Given the description of an element on the screen output the (x, y) to click on. 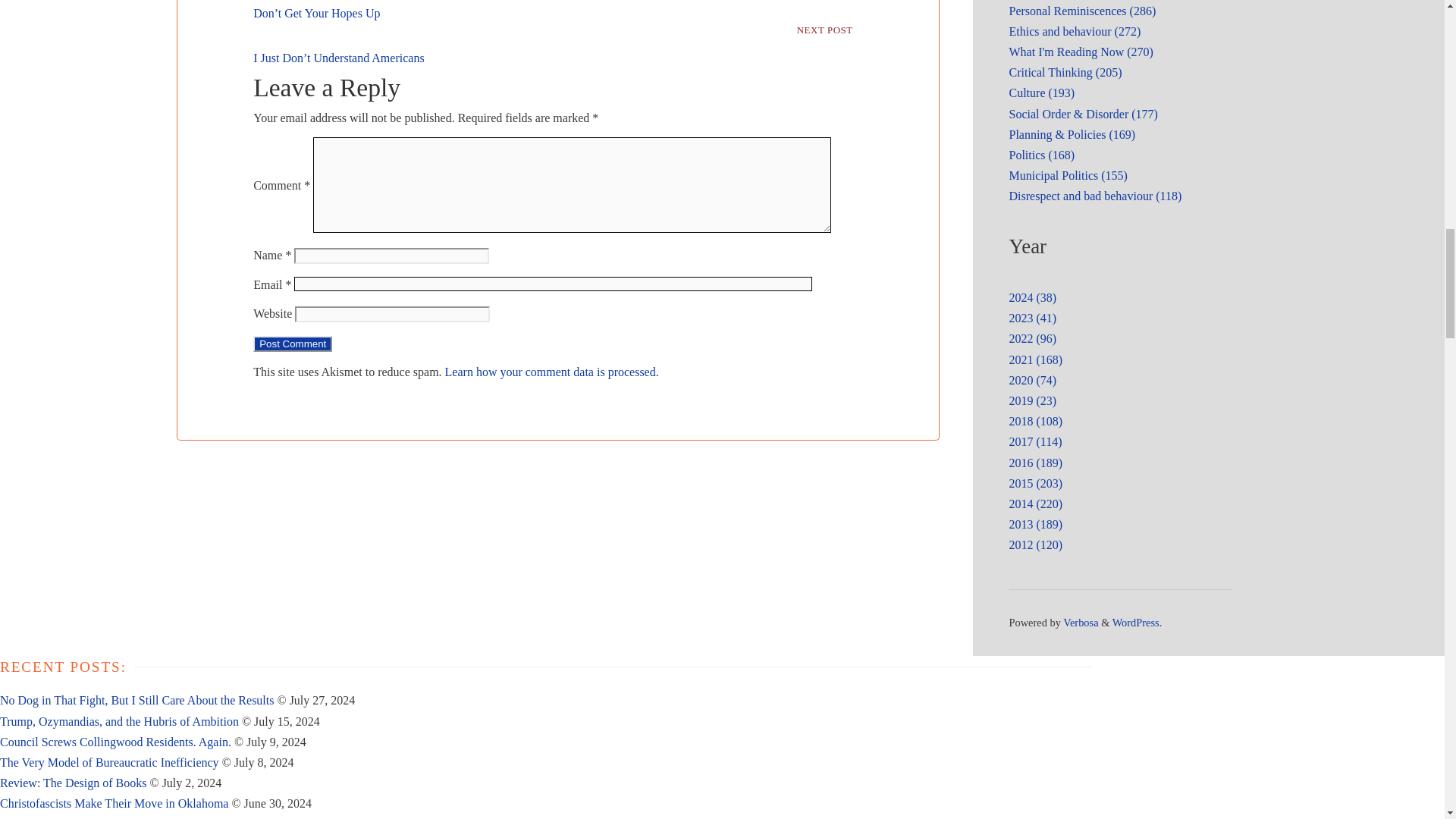
Post Comment (292, 343)
